Given the description of an element on the screen output the (x, y) to click on. 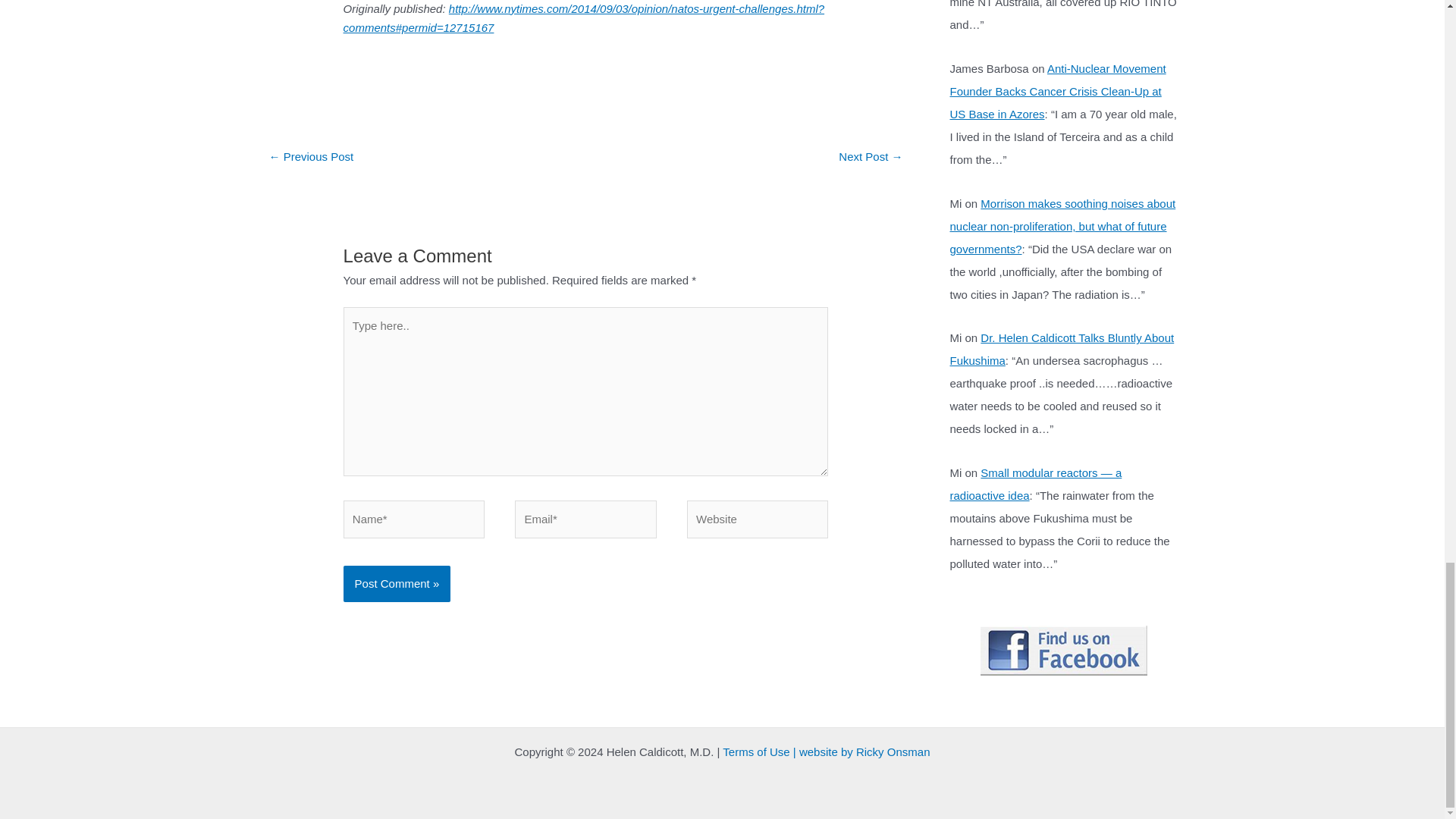
Australian web designer Ricky Onsman (893, 751)
Australia sleepwalks towards a dangerous nuclear future (310, 157)
go to Helen's Facebook page (1063, 649)
